Given the description of an element on the screen output the (x, y) to click on. 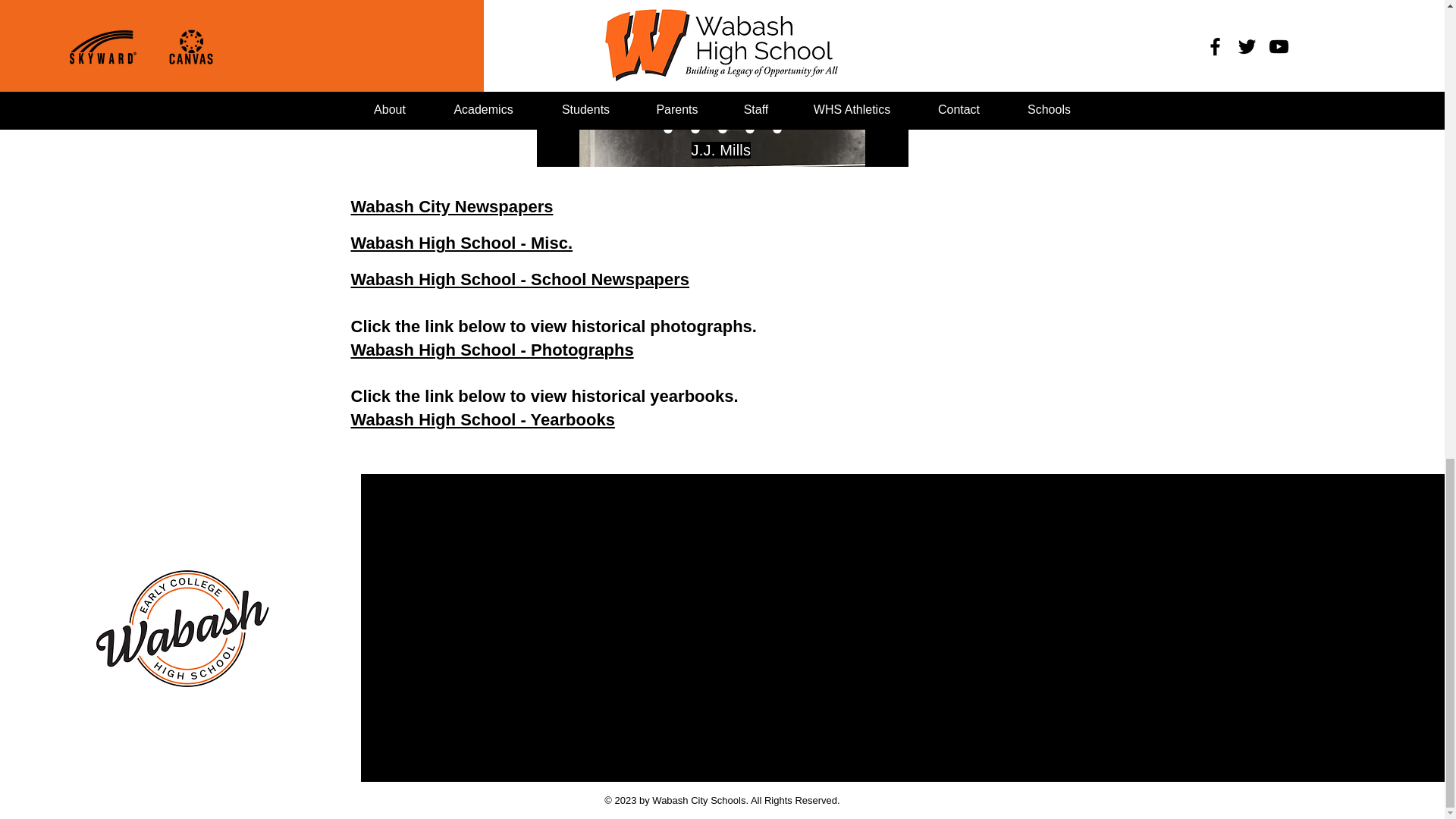
Wabash City Newspapers (451, 206)
Wabash High School - Misc. (461, 242)
Click to go to homepage (178, 627)
